Given the description of an element on the screen output the (x, y) to click on. 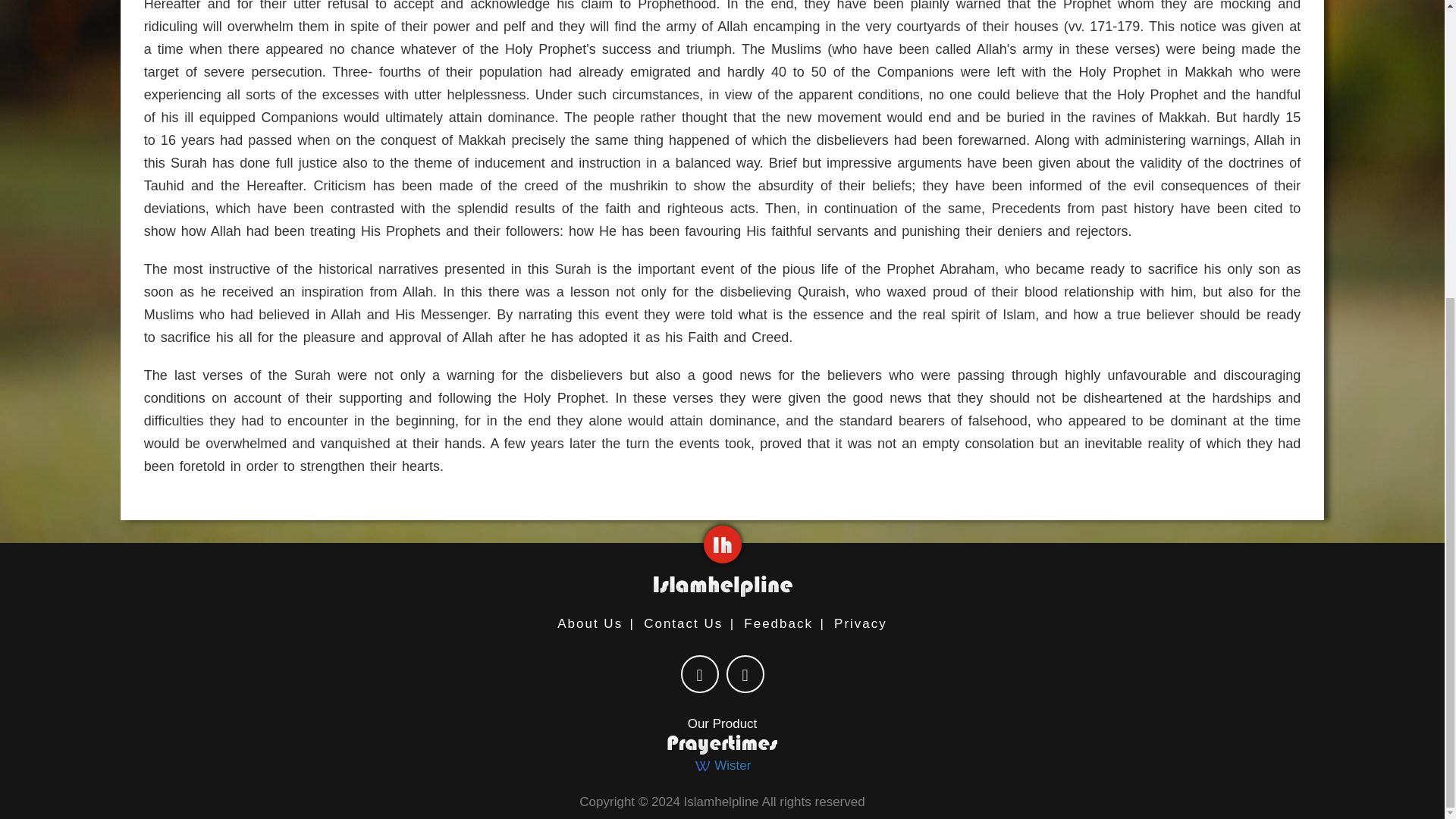
Feedback (778, 623)
Privacy (860, 623)
About Us (590, 623)
Contact Us (682, 623)
Wister (722, 765)
